Given the description of an element on the screen output the (x, y) to click on. 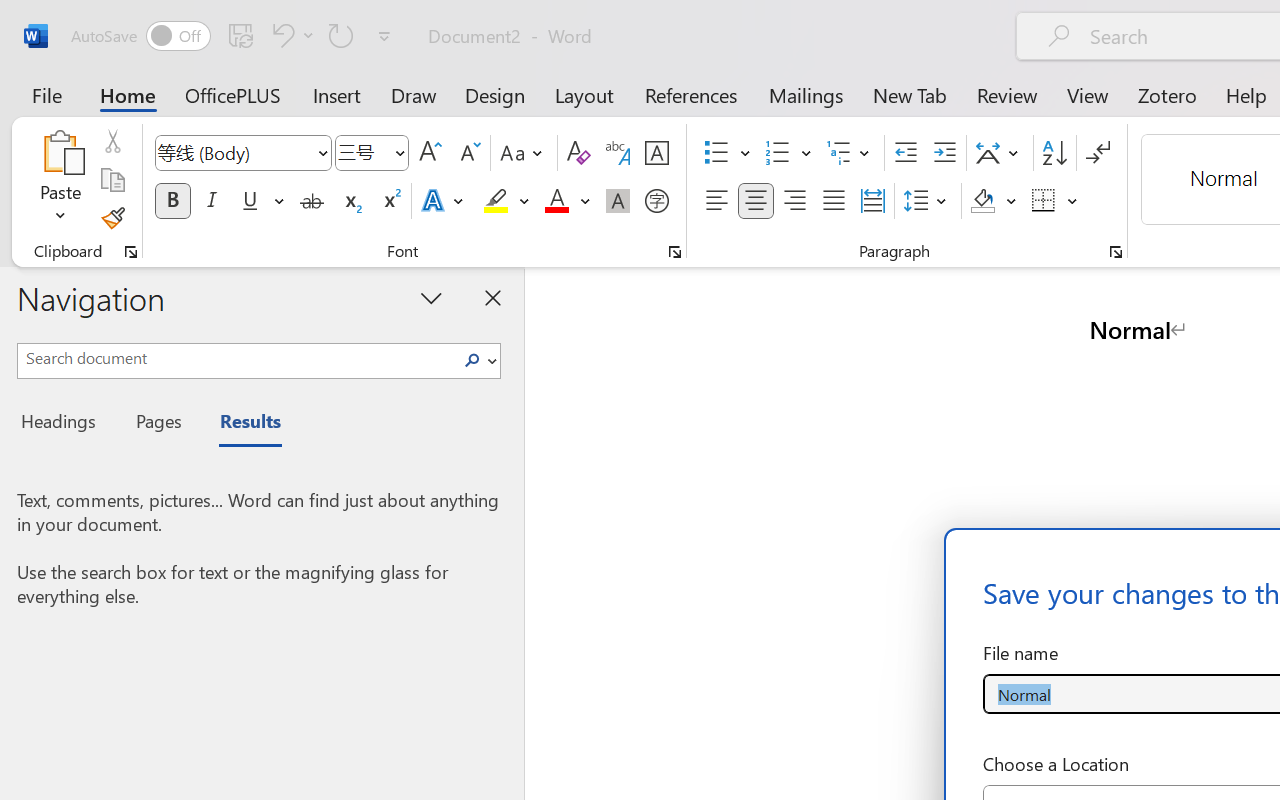
Text Highlight Color (506, 201)
Search (478, 360)
Mailings (806, 94)
Underline (250, 201)
Bullets (727, 153)
Borders (1055, 201)
Text Highlight Color Yellow (495, 201)
Character Shading (618, 201)
Borders (1044, 201)
Paste (60, 179)
Line and Paragraph Spacing (927, 201)
Numbering (788, 153)
Font (234, 152)
View (1087, 94)
